Given the description of an element on the screen output the (x, y) to click on. 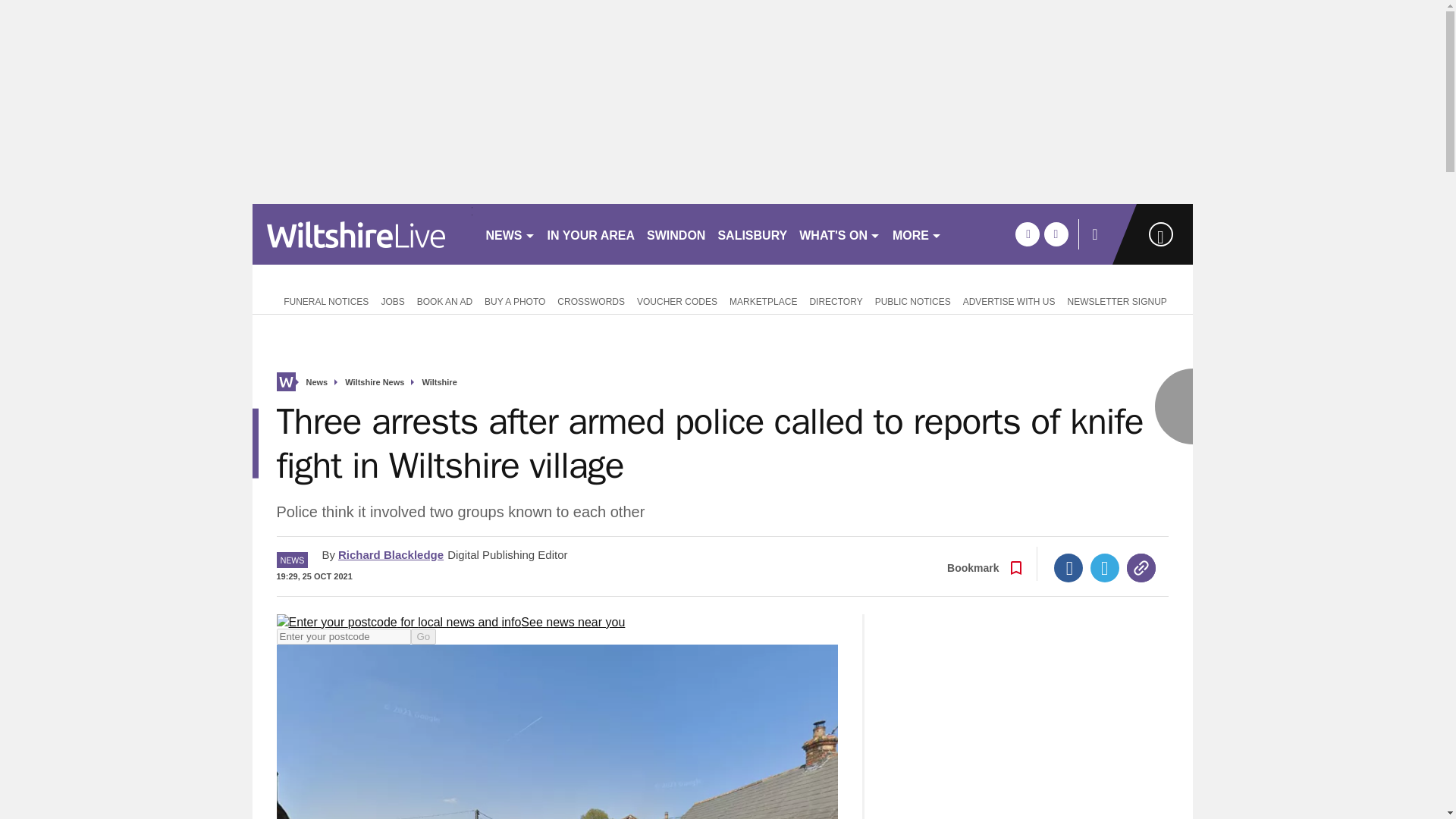
BUY A PHOTO (515, 300)
VOUCHER CODES (676, 300)
FUNERAL NOTICES (322, 300)
BOOK AN AD (444, 300)
PUBLIC NOTICES (912, 300)
WHAT'S ON (839, 233)
Twitter (1104, 567)
MORE (916, 233)
IN YOUR AREA (591, 233)
SALISBURY (752, 233)
SWINDON (675, 233)
CROSSWORDS (590, 300)
twitter (1055, 233)
NEWSLETTER SIGNUP (1116, 300)
JOBS (392, 300)
